Given the description of an element on the screen output the (x, y) to click on. 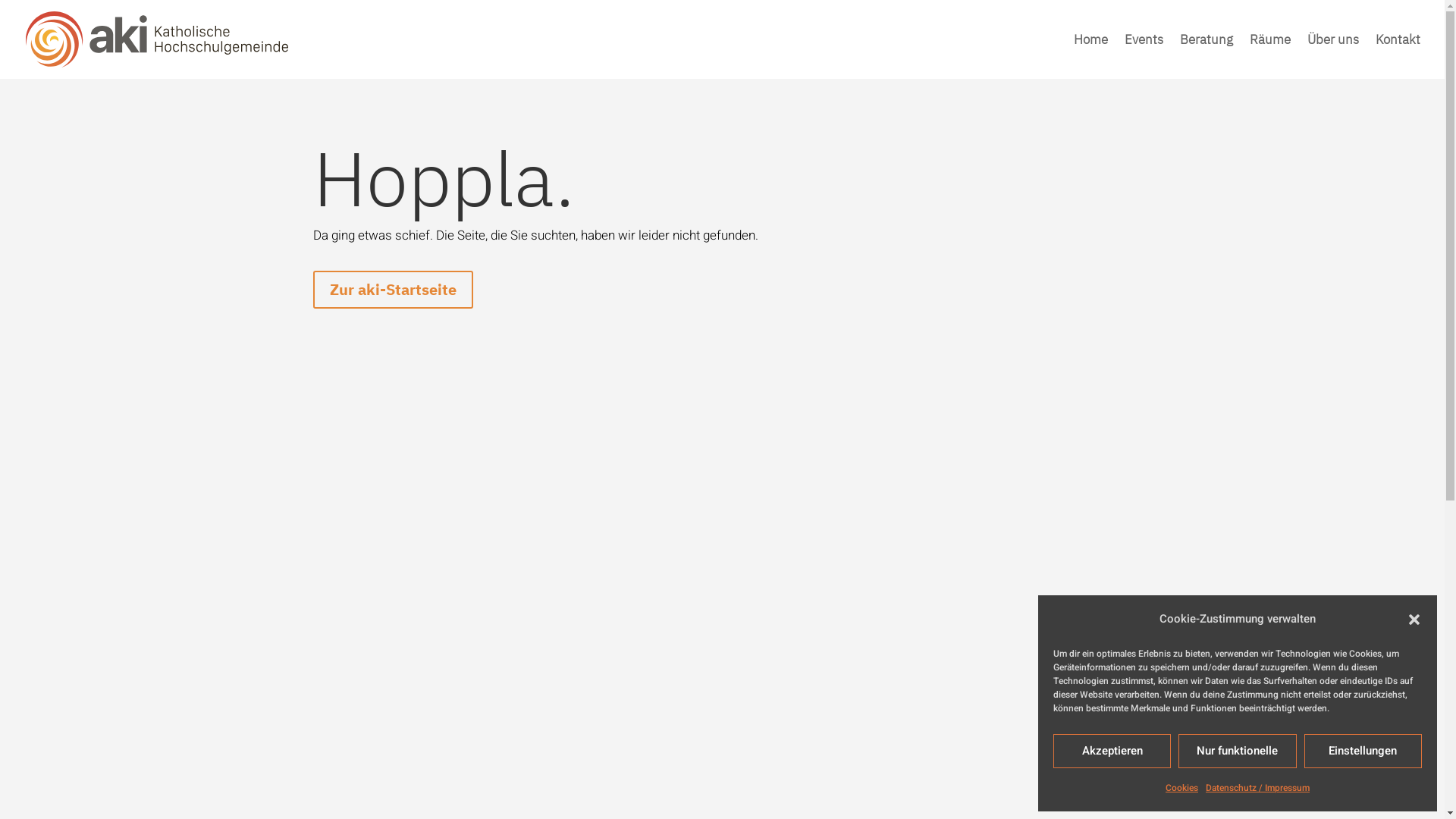
Akzeptieren Element type: text (1111, 751)
Einstellungen Element type: text (1362, 751)
Beratung Element type: text (1206, 56)
Nur funktionelle Element type: text (1236, 751)
Home Element type: text (1090, 56)
Cookies Element type: text (1181, 787)
Events Element type: text (1143, 56)
Zur aki-Startseite Element type: text (392, 289)
Kontakt Element type: text (1397, 56)
Datenschutz / Impressum Element type: text (1257, 787)
